Given the description of an element on the screen output the (x, y) to click on. 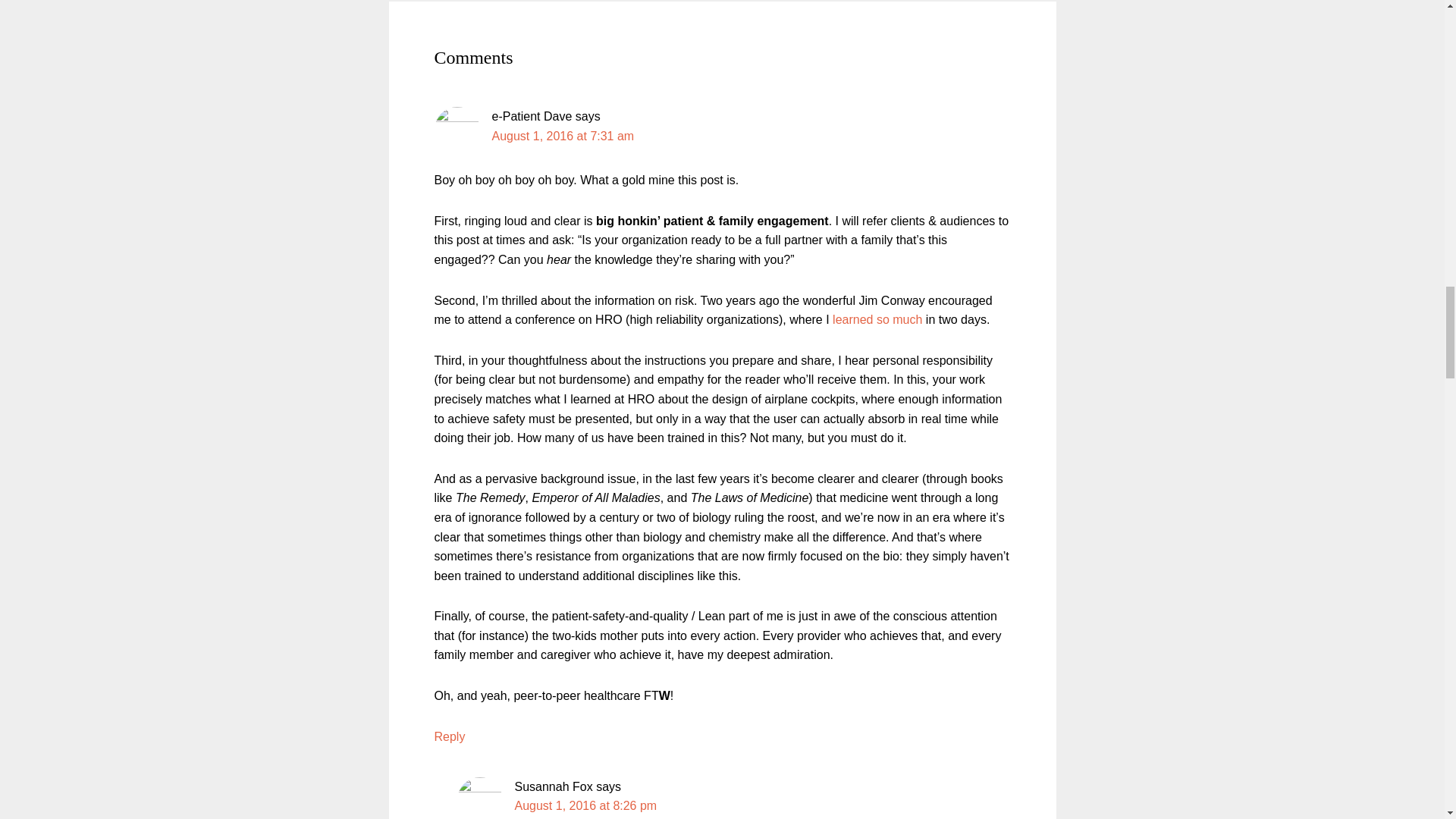
learned so much (876, 318)
August 1, 2016 at 8:26 pm (584, 805)
Reply (448, 736)
August 1, 2016 at 7:31 am (562, 135)
